Given the description of an element on the screen output the (x, y) to click on. 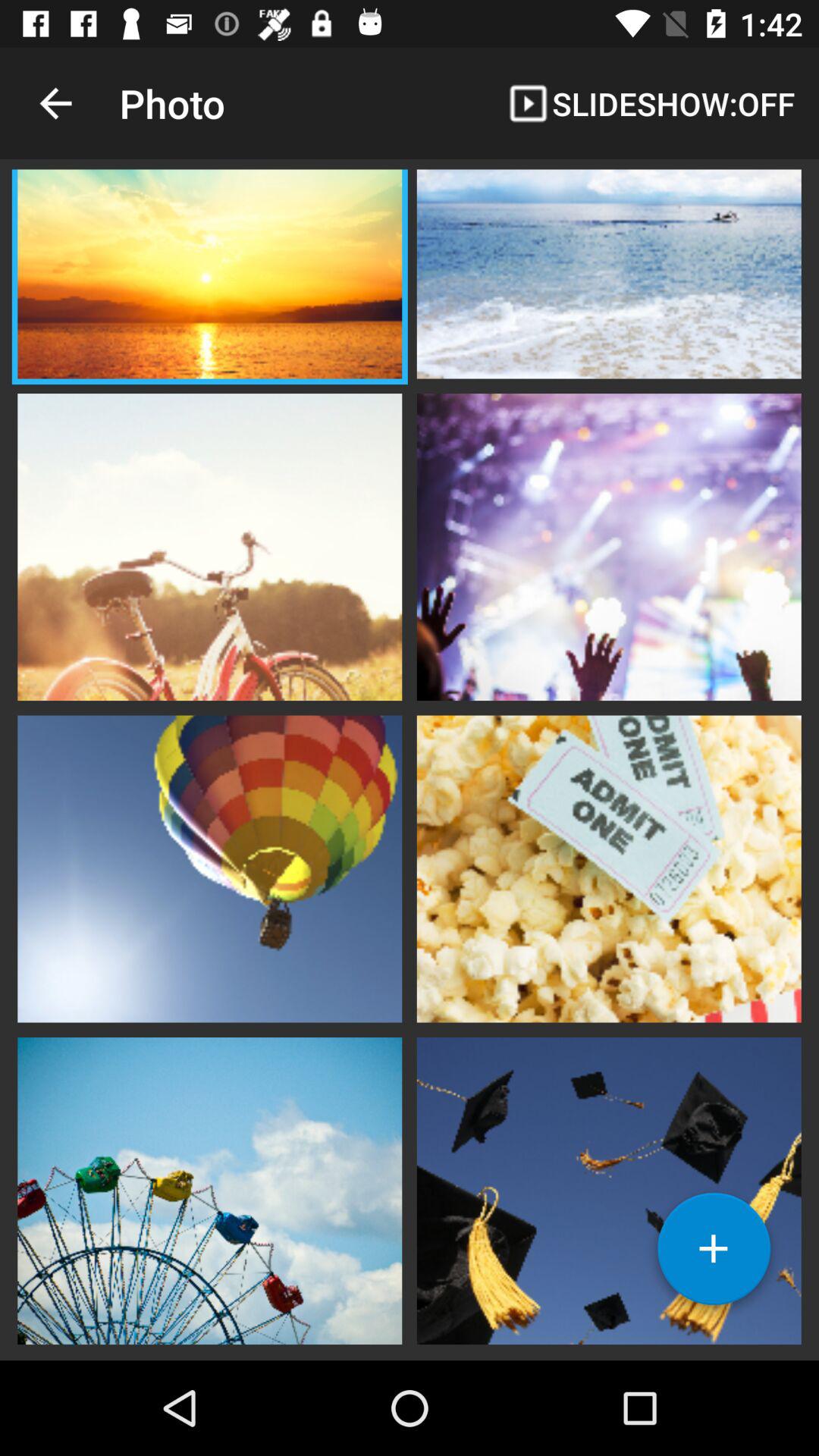
select this picture (209, 545)
